Given the description of an element on the screen output the (x, y) to click on. 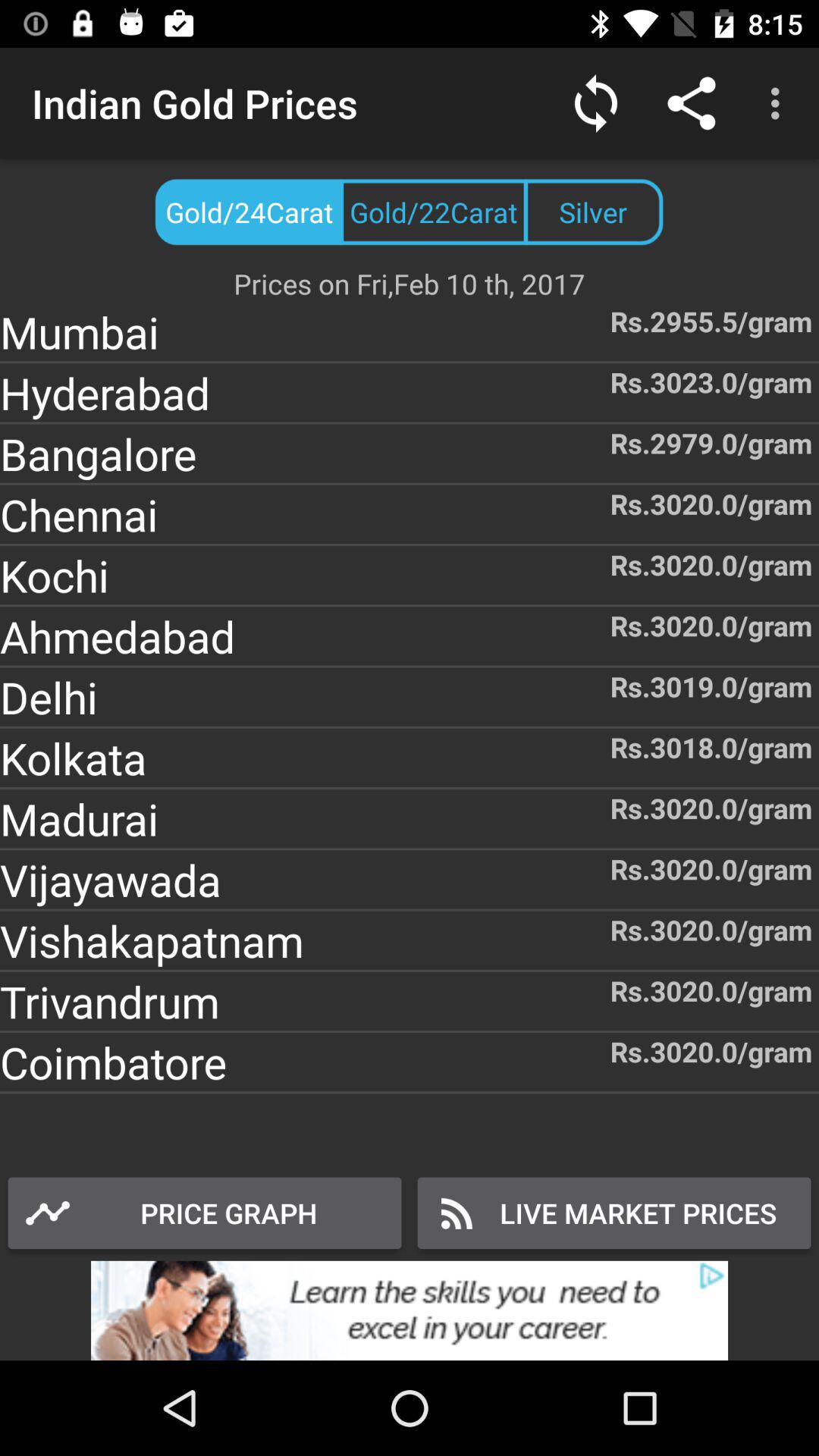
advertisement page (409, 1310)
